Given the description of an element on the screen output the (x, y) to click on. 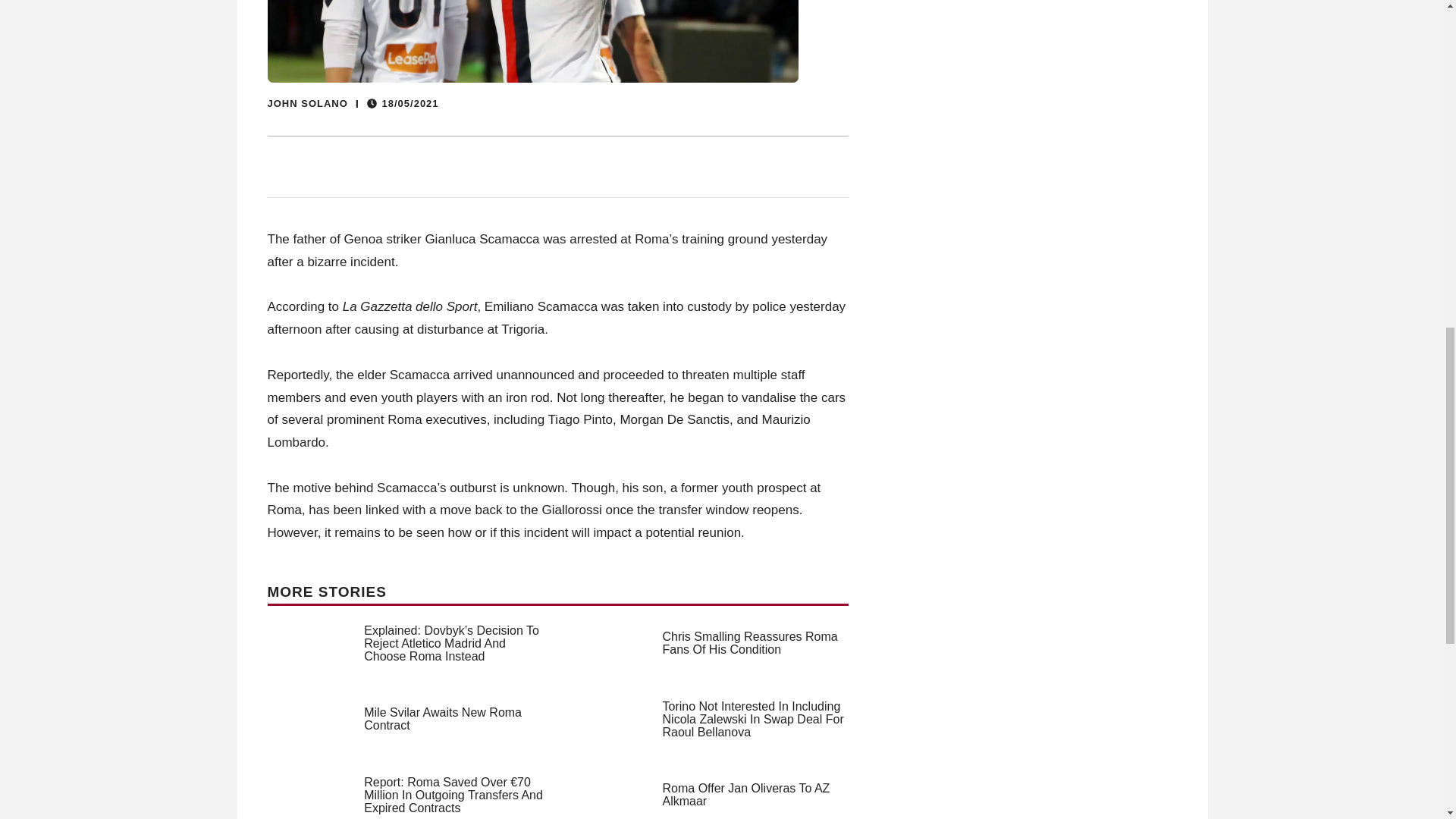
Roma Offer Jan Oliveras To AZ Alkmaar (745, 794)
Mile Svilar Awaits New Roma Contract (442, 718)
Chris Smalling Reassures Roma Fans Of His Condition (750, 642)
